Given the description of an element on the screen output the (x, y) to click on. 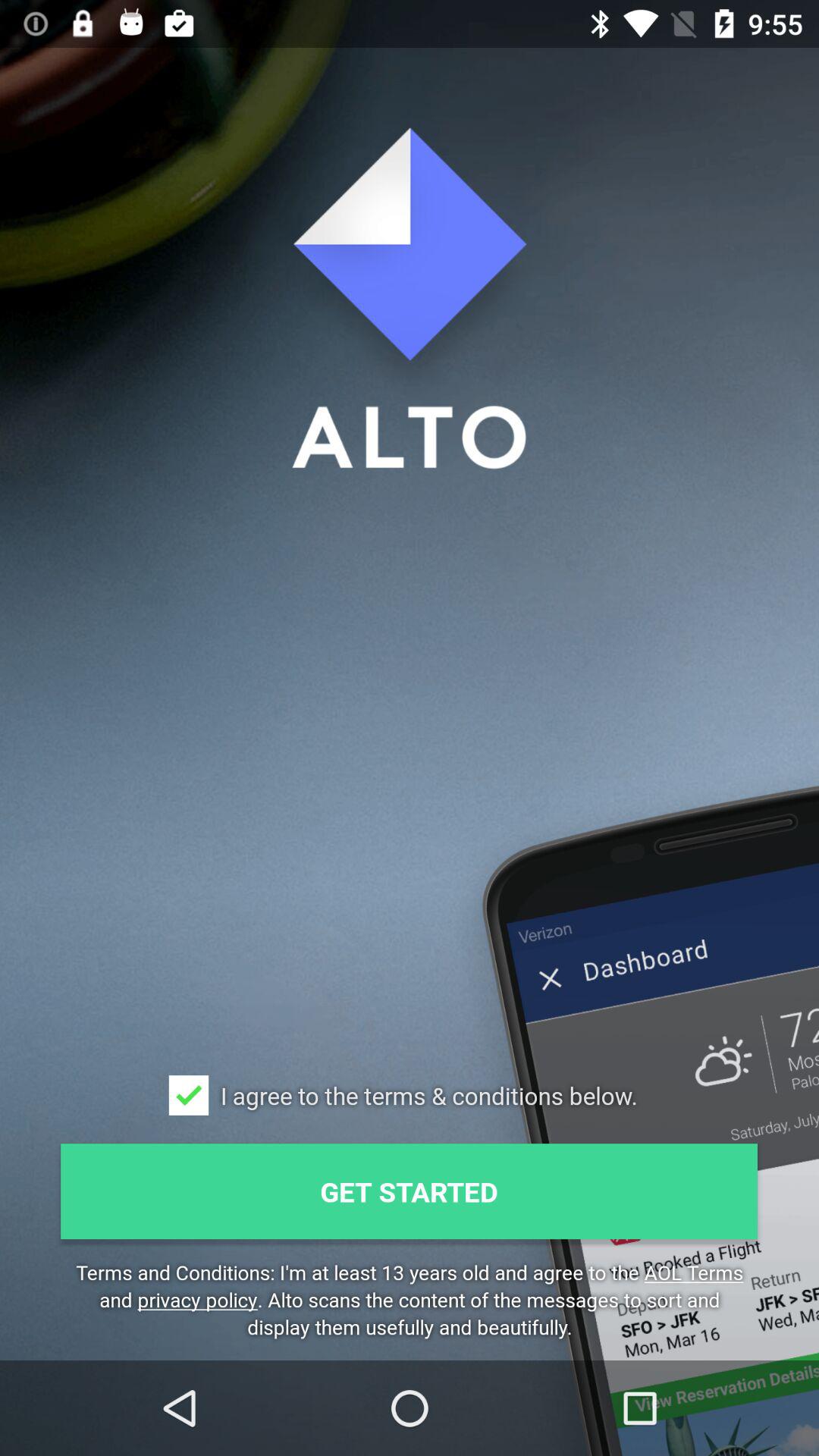
tap the item above terms and conditions icon (408, 1191)
